Given the description of an element on the screen output the (x, y) to click on. 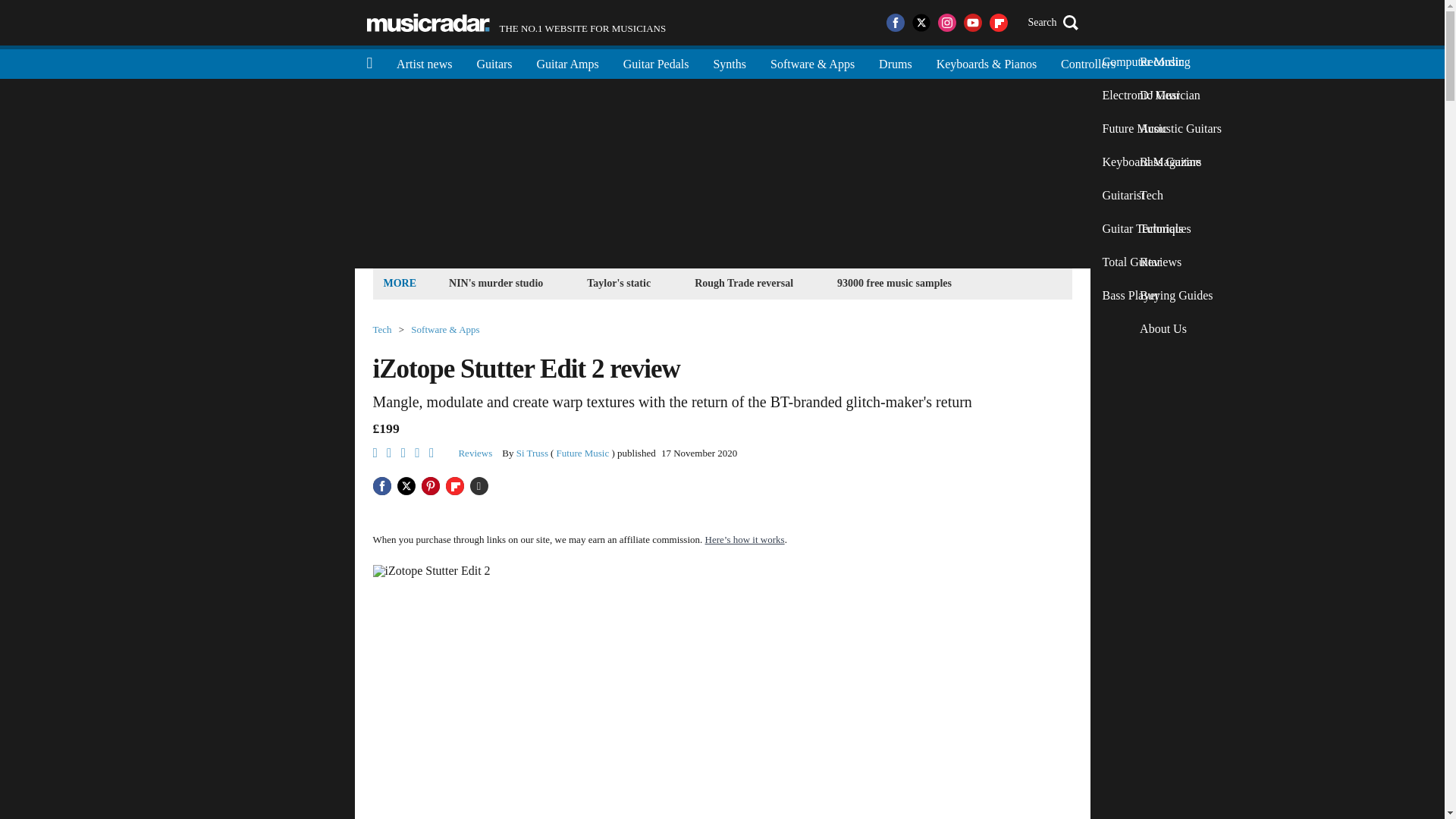
Rough Trade reversal (742, 282)
Future Music (1151, 128)
Acoustic Guitars (1179, 128)
NIN's murder studio (496, 282)
Electronic Musician (1151, 95)
Total Guitar (1151, 262)
Artist news (424, 61)
Guitarist (1151, 195)
Drums (895, 61)
About Us (1179, 328)
